Given the description of an element on the screen output the (x, y) to click on. 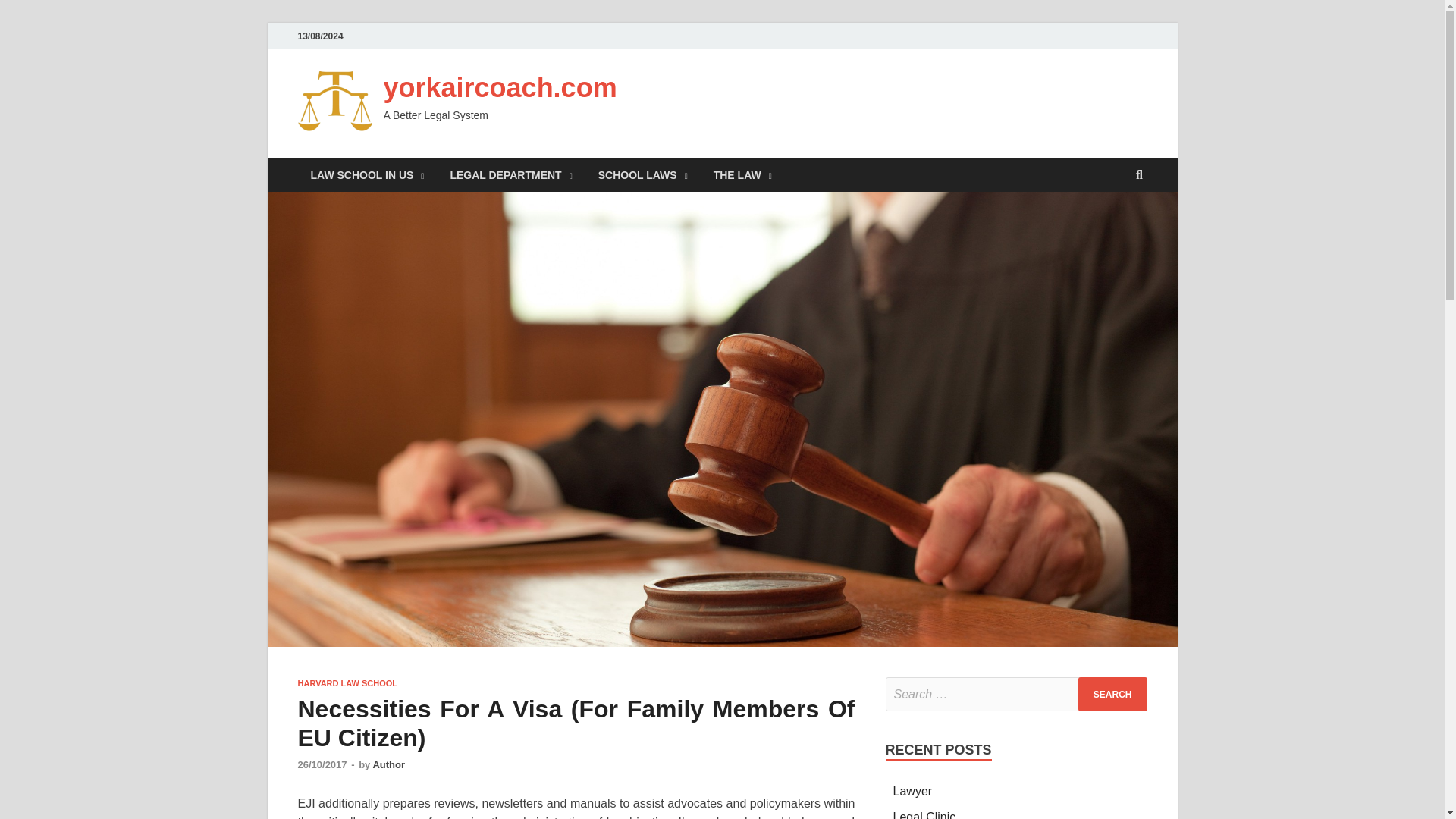
SCHOOL LAWS (642, 174)
Search (1112, 694)
yorkaircoach.com (500, 87)
LAW SCHOOL IN US (366, 174)
THE LAW (742, 174)
LEGAL DEPARTMENT (510, 174)
Search (1112, 694)
